Given the description of an element on the screen output the (x, y) to click on. 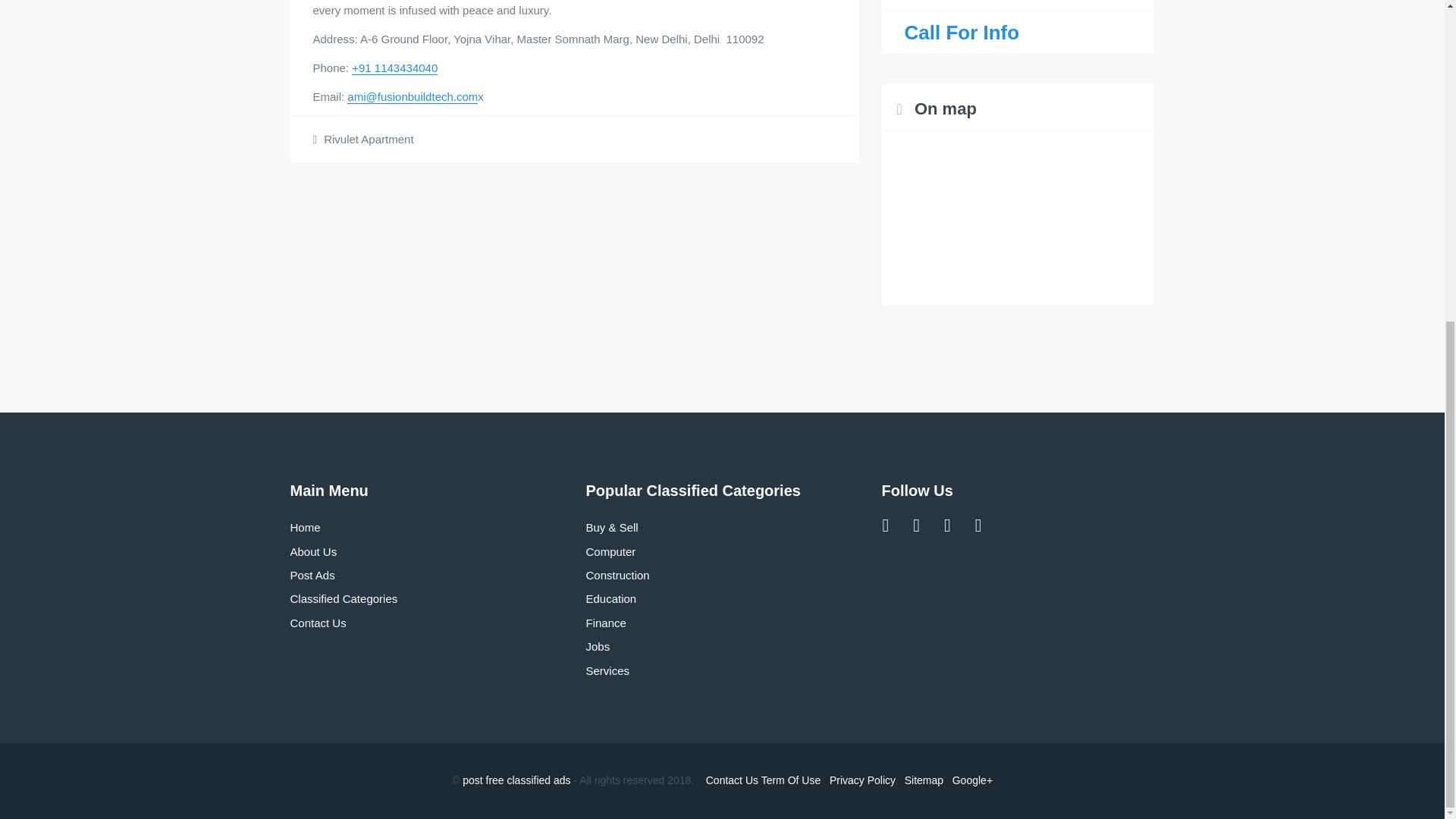
Computer (609, 551)
Jobs (597, 645)
post free classified ads (516, 779)
Post Ads (311, 574)
Classified Categories (343, 598)
free advertising google plus page (972, 779)
Contact Us (317, 622)
Home (304, 526)
free advertising sitemap (923, 779)
About Us (312, 551)
